Given the description of an element on the screen output the (x, y) to click on. 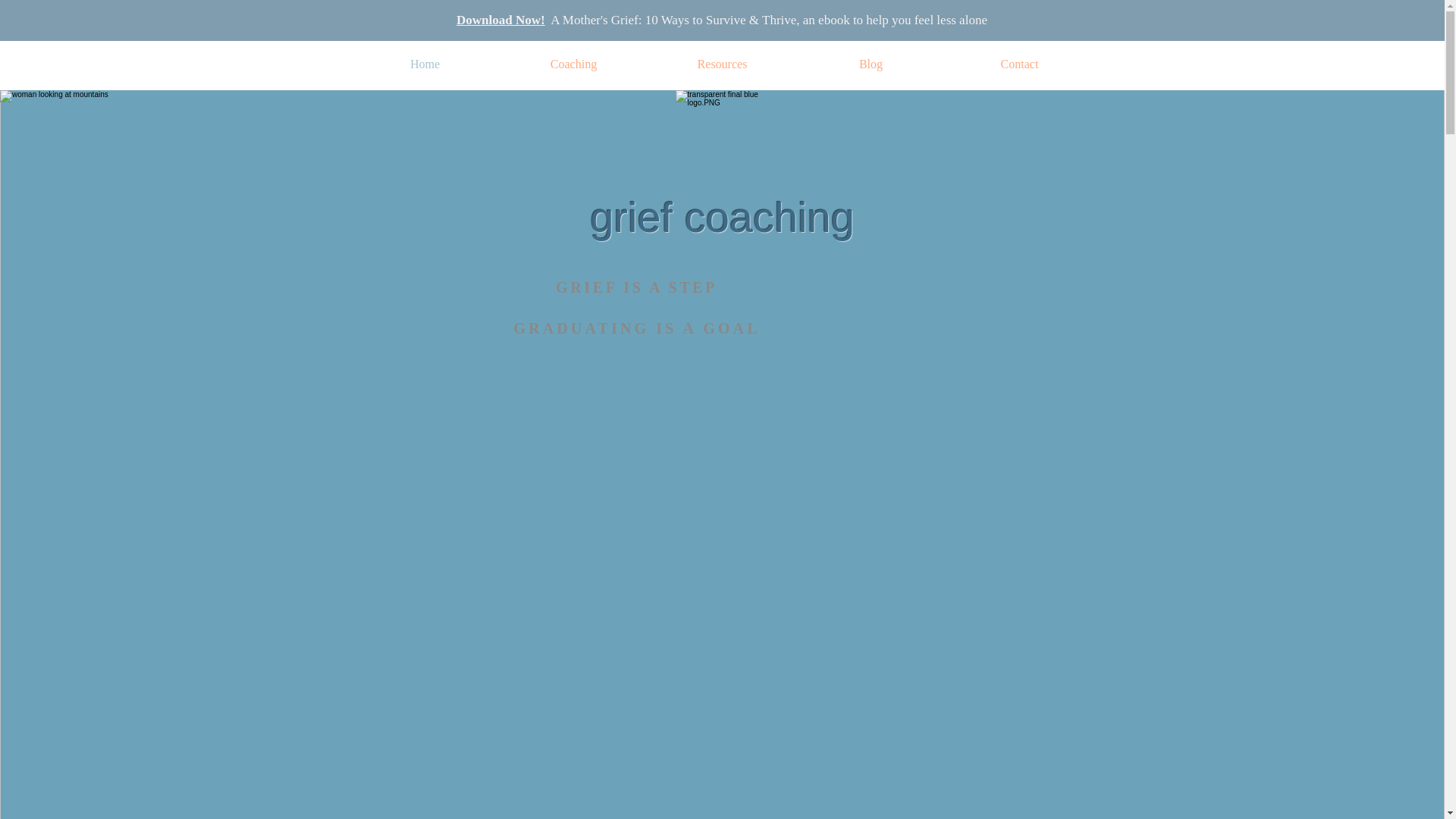
Home (424, 64)
Coaching (573, 64)
Contact (1018, 64)
Download Now! (500, 20)
Resources (721, 64)
Blog (870, 64)
